Given the description of an element on the screen output the (x, y) to click on. 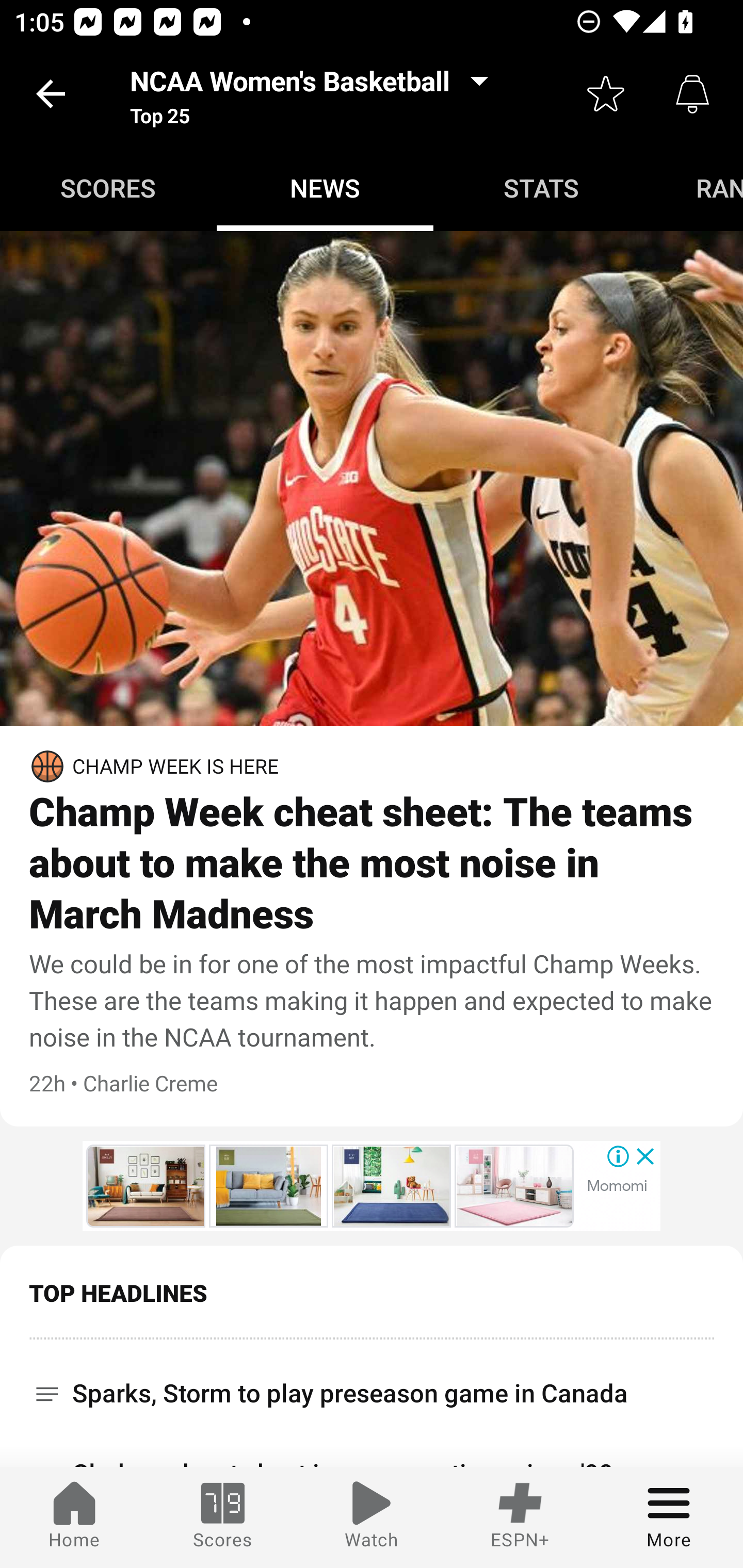
NCAA Women's Basketball Top 25 (315, 93)
Favorite toggle (605, 93)
Alerts (692, 93)
Scores SCORES (108, 187)
Stats STATS (541, 187)
Momomi (616, 1185)
 Sparks, Storm to play preseason game in Canada (371, 1386)
Home (74, 1517)
Scores (222, 1517)
Watch (371, 1517)
ESPN+ (519, 1517)
